Given the description of an element on the screen output the (x, y) to click on. 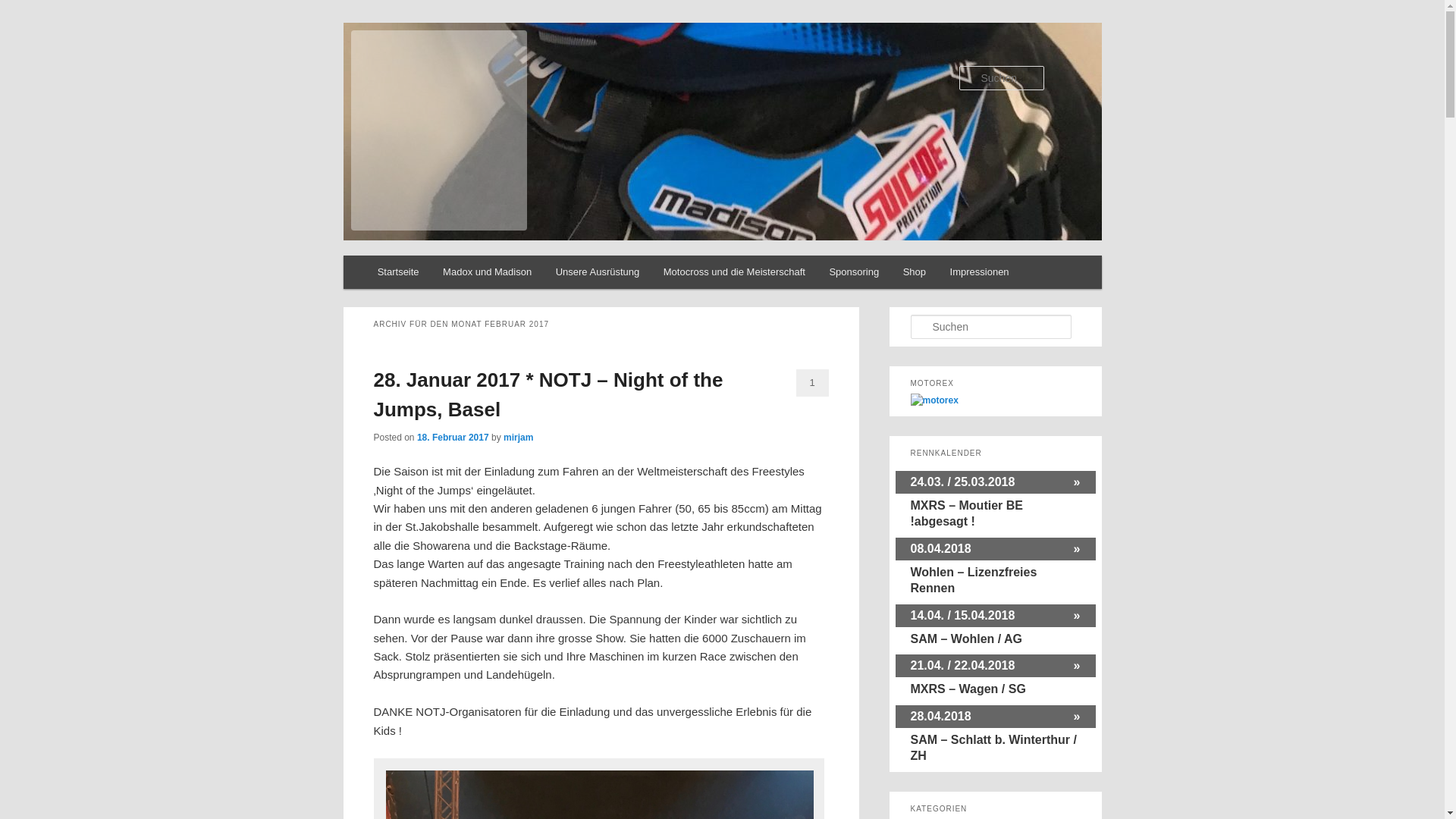
Zum Inhalt wechseln Element type: text (439, 274)
18. Februar 2017 Element type: text (453, 437)
Impressionen Element type: text (979, 271)
mirjam Element type: text (518, 437)
motorex  Element type: hover (933, 400)
Madox und Madison Element type: text (486, 271)
Suchen Element type: text (25, 8)
Shop Element type: text (914, 271)
1 Element type: text (812, 382)
Suchen Element type: text (21, 10)
Motocross und die Meisterschaft Element type: text (734, 271)
Startseite Element type: text (397, 271)
Sponsoring Element type: text (854, 271)
